Given the description of an element on the screen output the (x, y) to click on. 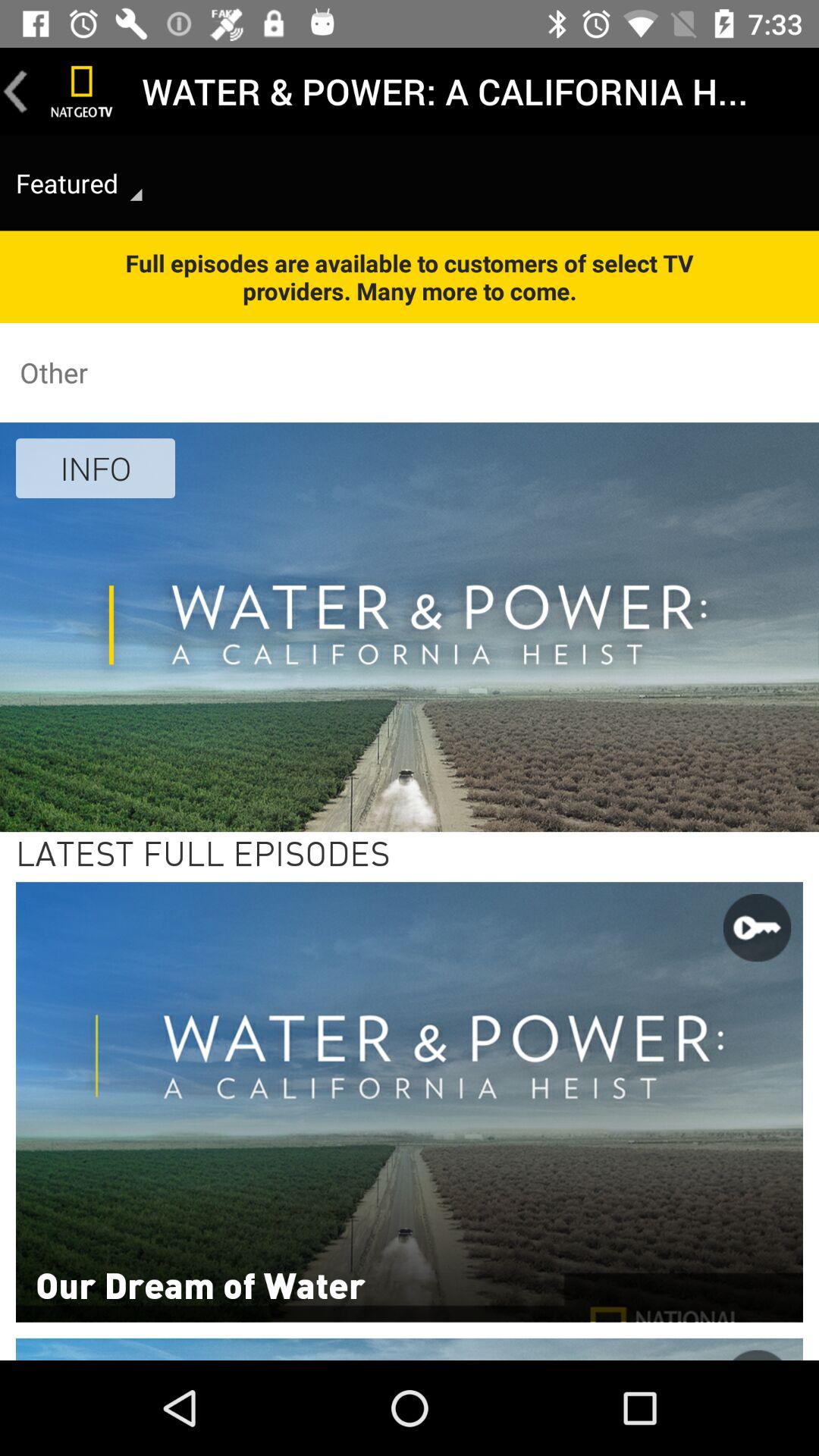
national geography tv (81, 91)
